Given the description of an element on the screen output the (x, y) to click on. 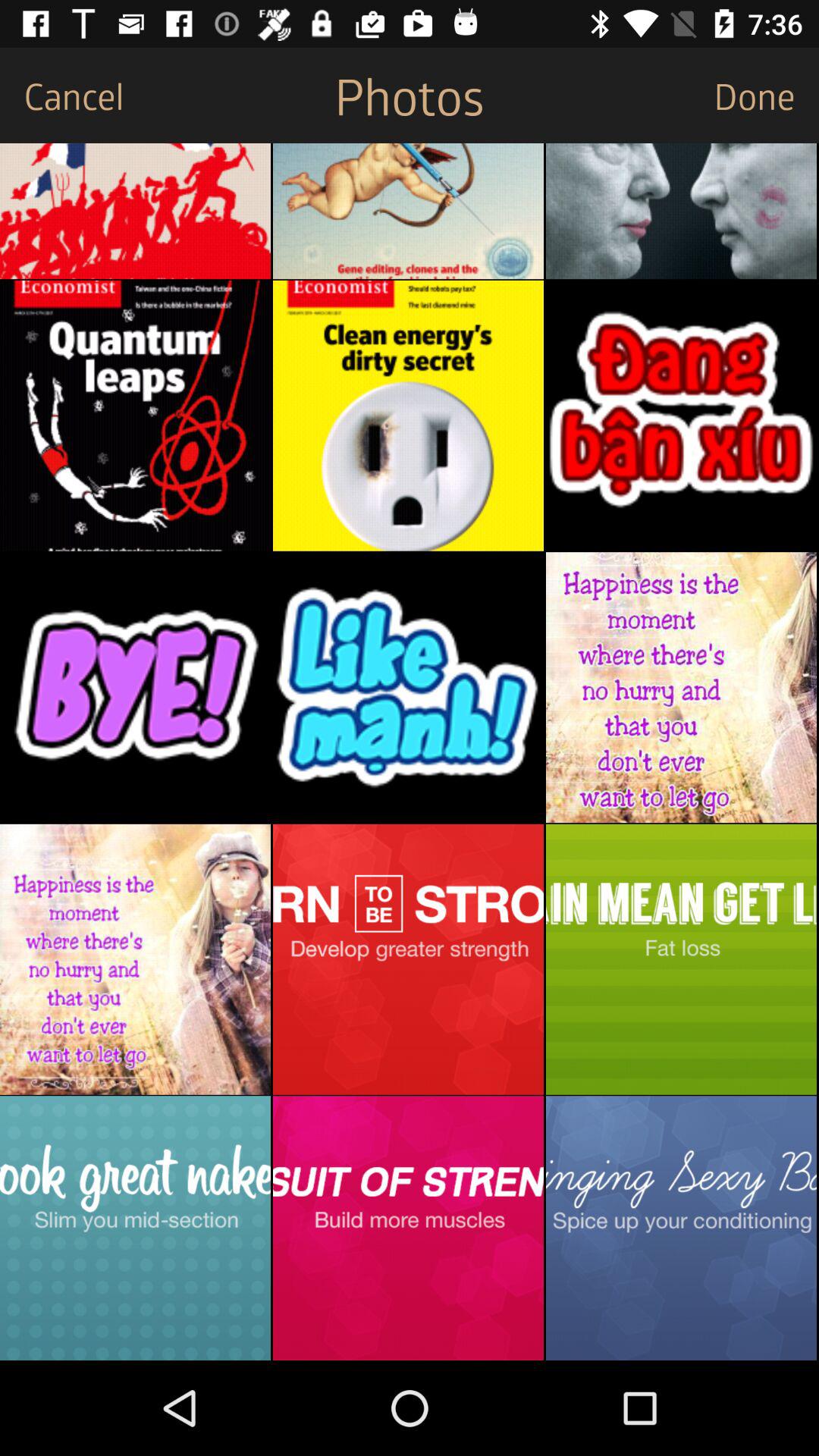
select the image (135, 415)
